Given the description of an element on the screen output the (x, y) to click on. 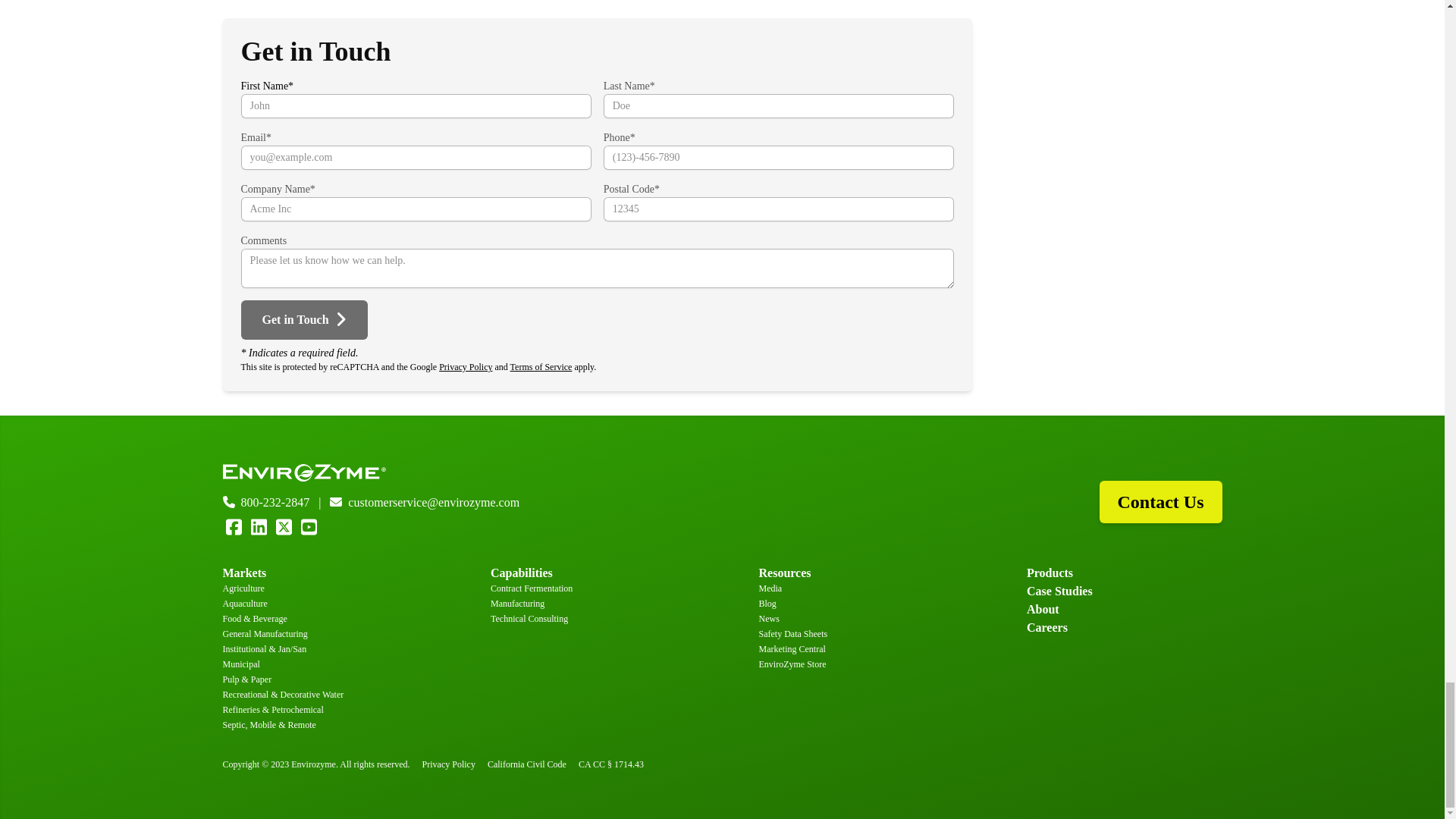
Get in Touch (304, 319)
Privacy Policy (465, 366)
